Given the description of an element on the screen output the (x, y) to click on. 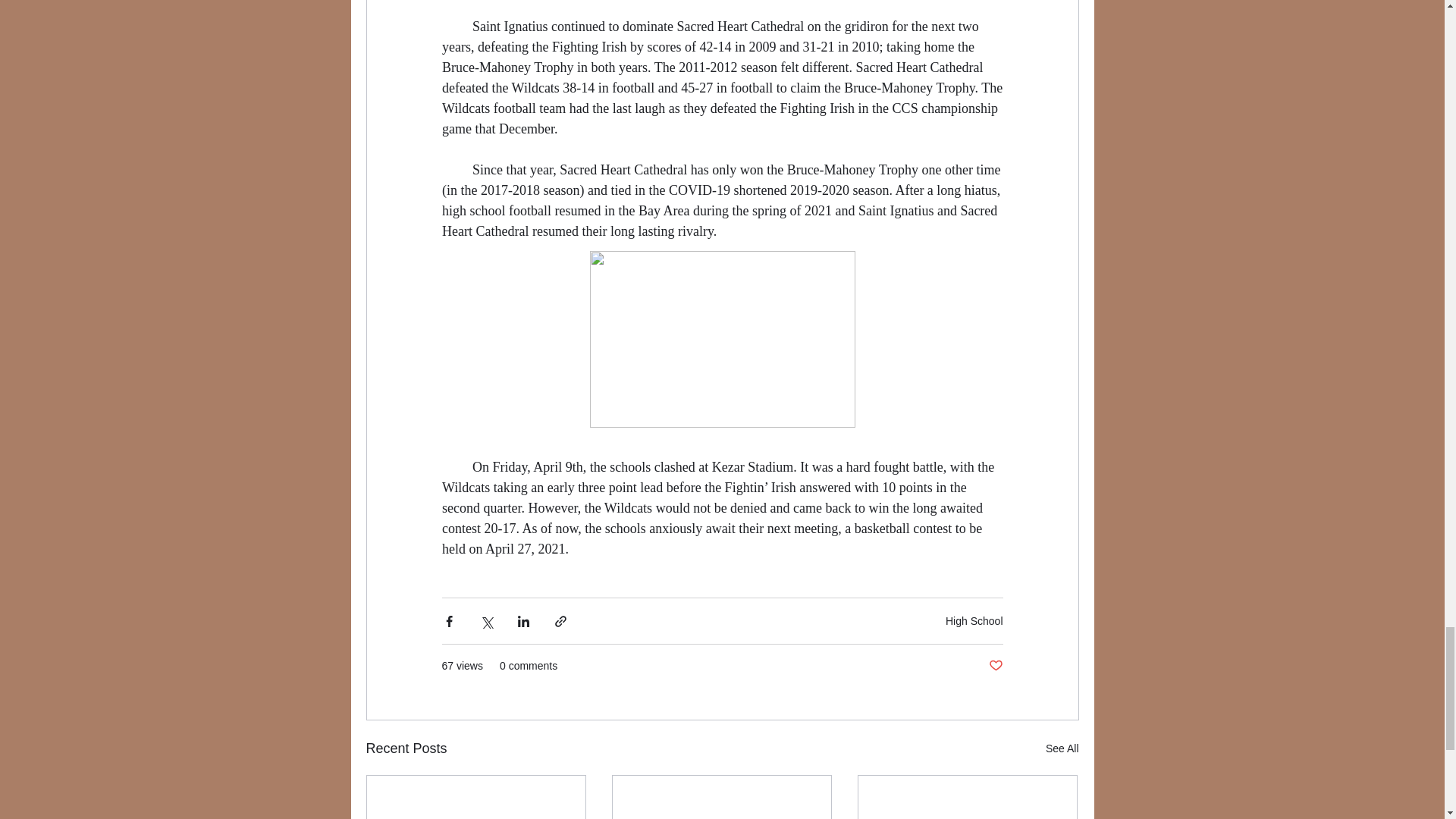
High School (973, 621)
Twitter Follow (492, 223)
Post not marked as liked (995, 666)
See All (1061, 748)
